Given the description of an element on the screen output the (x, y) to click on. 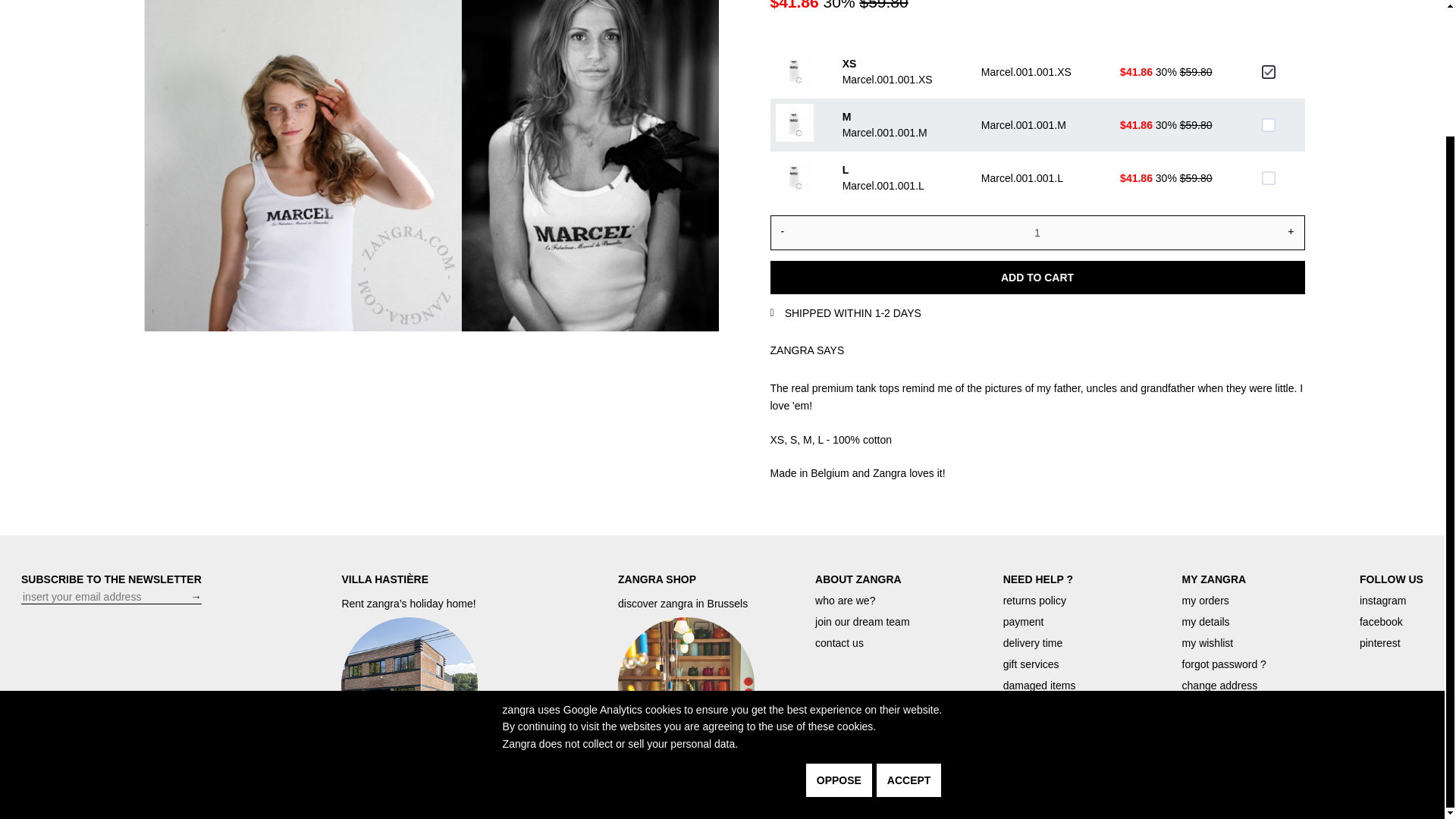
join our dream team (862, 621)
1 (1037, 232)
create an account (1045, 727)
Marcel.001.001.M (1268, 124)
gift services (1031, 664)
TERMS AND CONDITIONS (1368, 790)
damaged items (1039, 685)
pinterest (1379, 643)
change address (1219, 685)
ZANGRA SAYS (807, 350)
ADD TO CART (1037, 277)
instagram (1382, 600)
returns policy (1034, 600)
my details (1206, 621)
facebook (1381, 621)
